Given the description of an element on the screen output the (x, y) to click on. 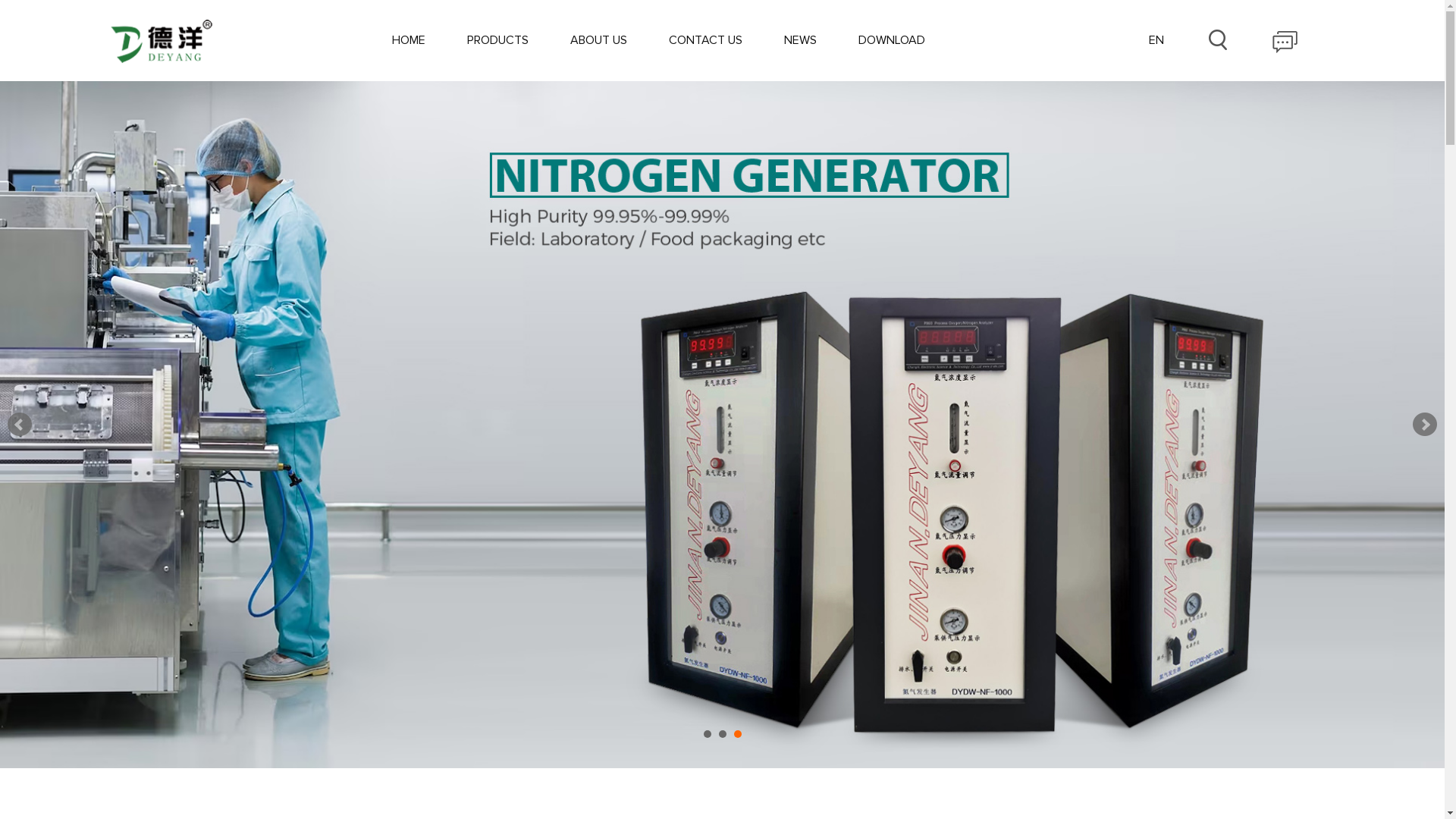
DOWNLOAD Element type: text (891, 39)
3 Element type: text (737, 733)
HOME Element type: text (408, 39)
NEWS Element type: text (800, 39)
PRODUCTS Element type: text (497, 39)
CONTACT US Element type: text (705, 39)
1 Element type: text (707, 733)
2 Element type: text (722, 733)
ABOUT US Element type: text (598, 39)
Next Element type: text (1424, 424)
Prev Element type: text (19, 424)
